Given the description of an element on the screen output the (x, y) to click on. 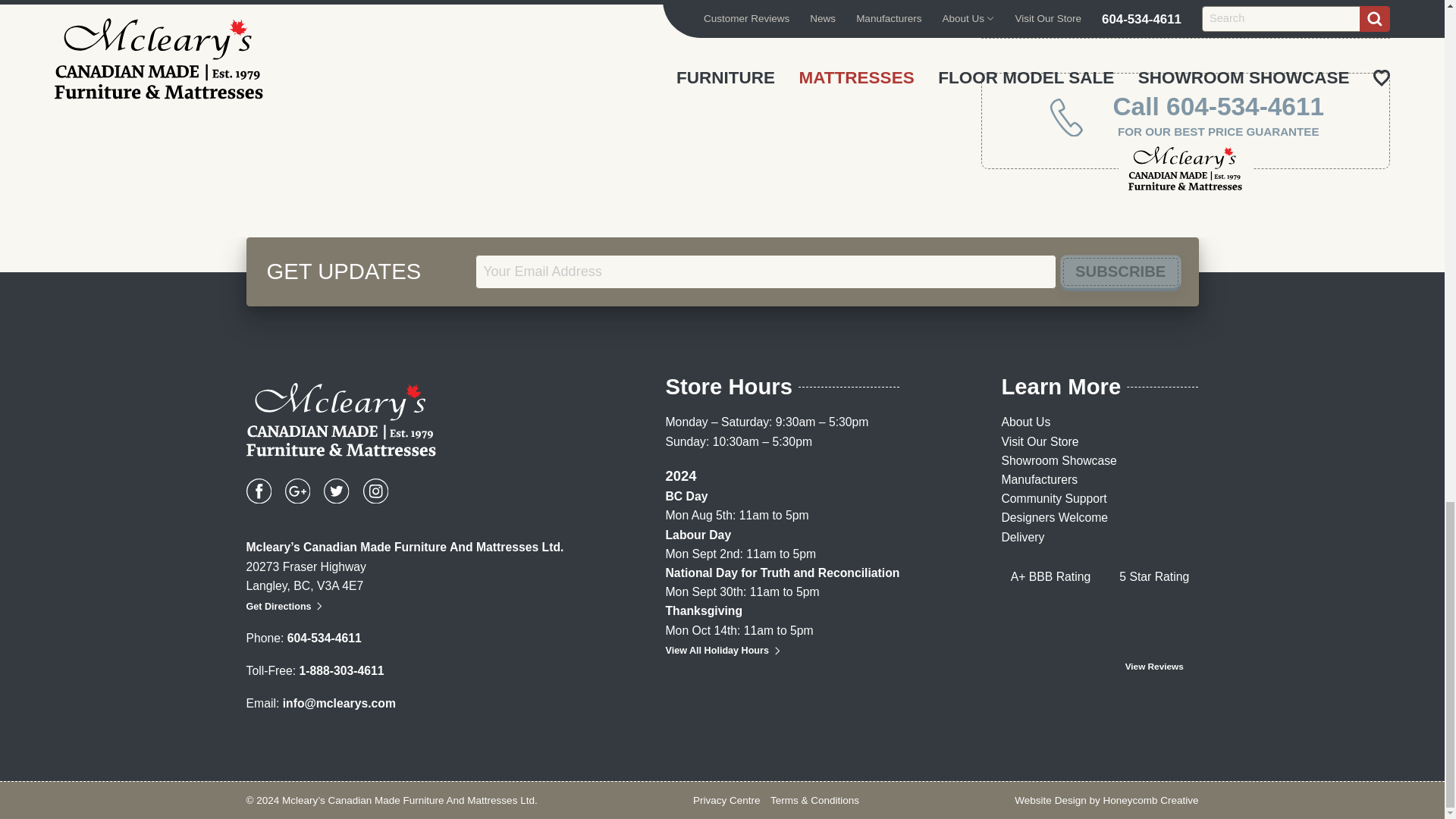
Vancouver Website Design by Honeycomb Creative (1106, 799)
Follow us on Facebook (258, 490)
Follow us on Instagram (375, 490)
Follow us on Google (297, 490)
Follow us on Twitter (336, 490)
